Given the description of an element on the screen output the (x, y) to click on. 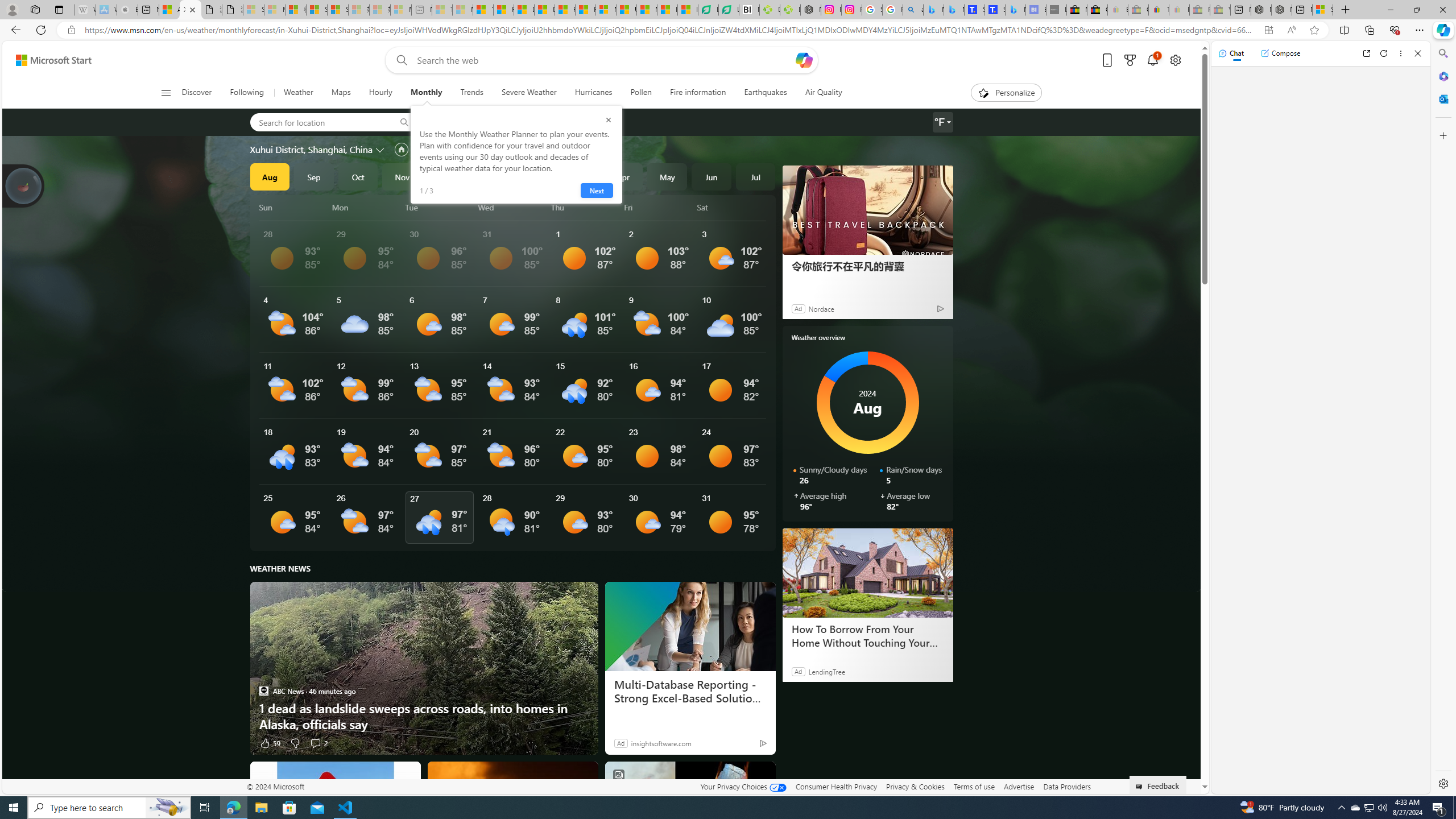
Sun (294, 207)
Earthquakes (765, 92)
Sign in to your Microsoft account - Sleeping (253, 9)
Aug (268, 176)
Jul (755, 176)
Air Quality (818, 92)
